Given the description of an element on the screen output the (x, y) to click on. 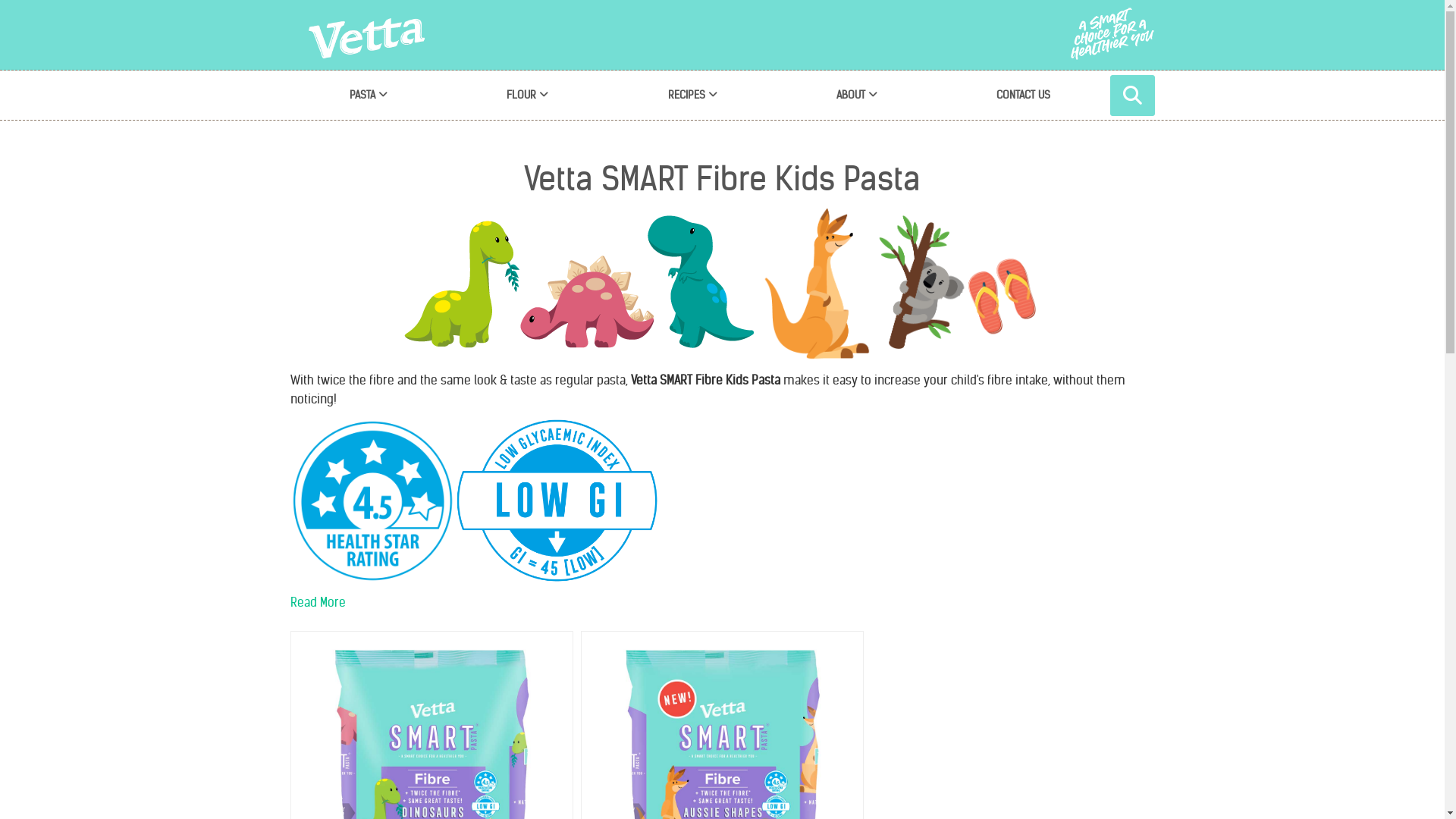
FLOUR Element type: text (527, 94)
CONTACT US Element type: text (1022, 94)
PASTA Element type: text (367, 94)
RECIPES Element type: text (692, 94)
ABOUT Element type: text (856, 94)
Read More Element type: text (317, 602)
